Given the description of an element on the screen output the (x, y) to click on. 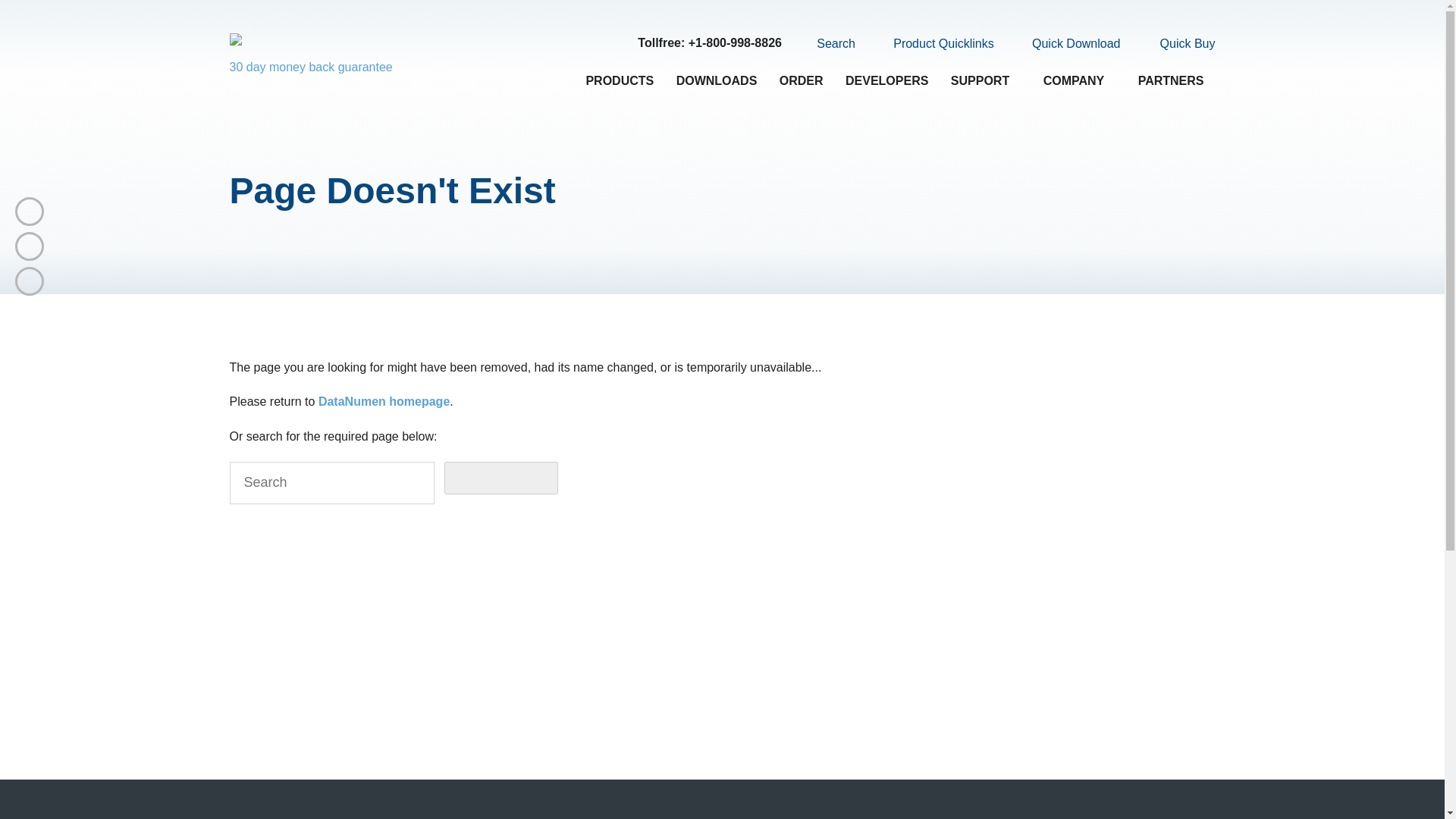
Quick Download (1066, 44)
Product Quicklinks (934, 44)
Search for: (330, 482)
Search (827, 43)
